Given the description of an element on the screen output the (x, y) to click on. 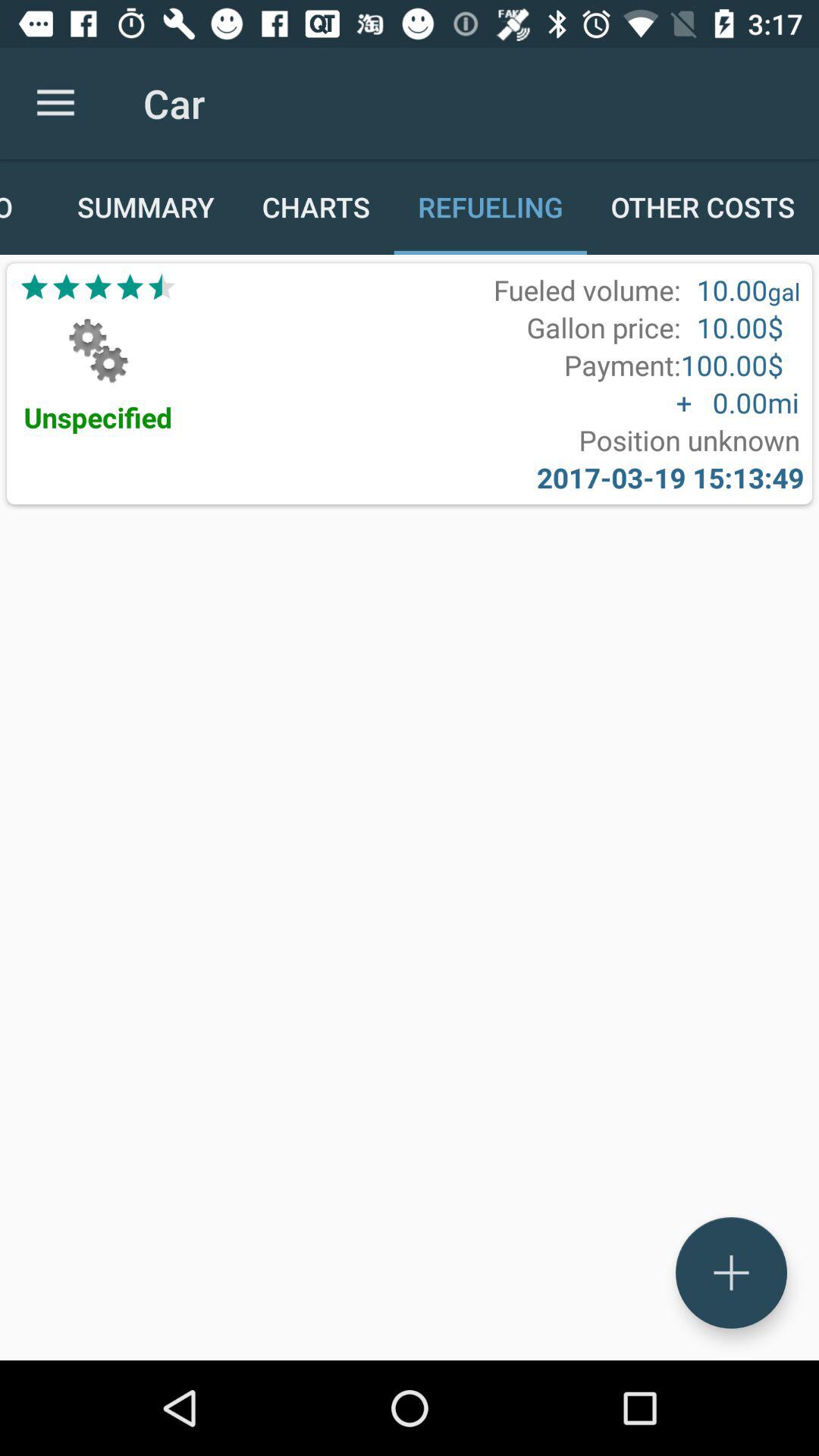
click the icon above the +   0.00 item (622, 364)
